Given the description of an element on the screen output the (x, y) to click on. 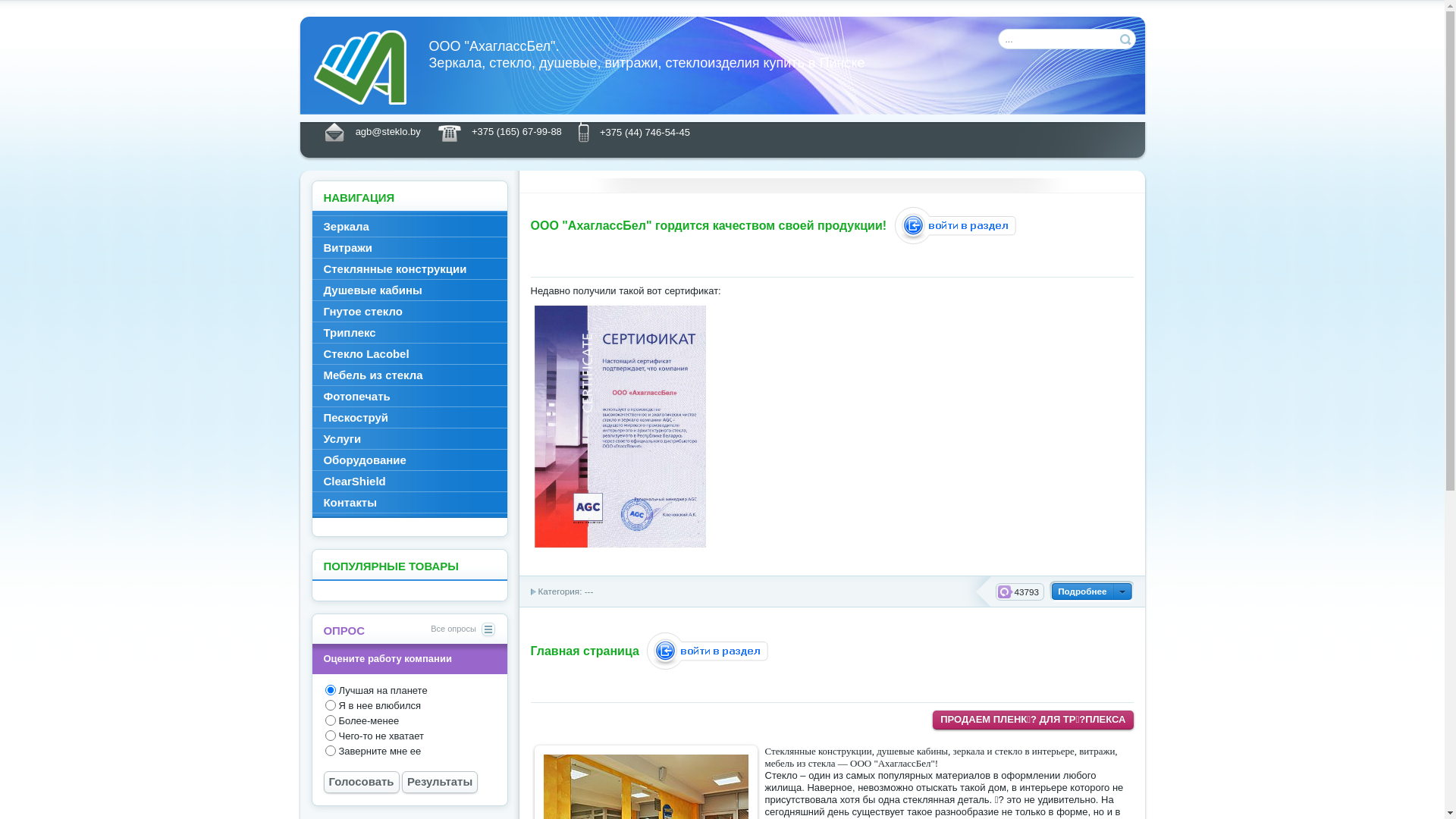
ClearShield Element type: text (409, 480)
